Given the description of an element on the screen output the (x, y) to click on. 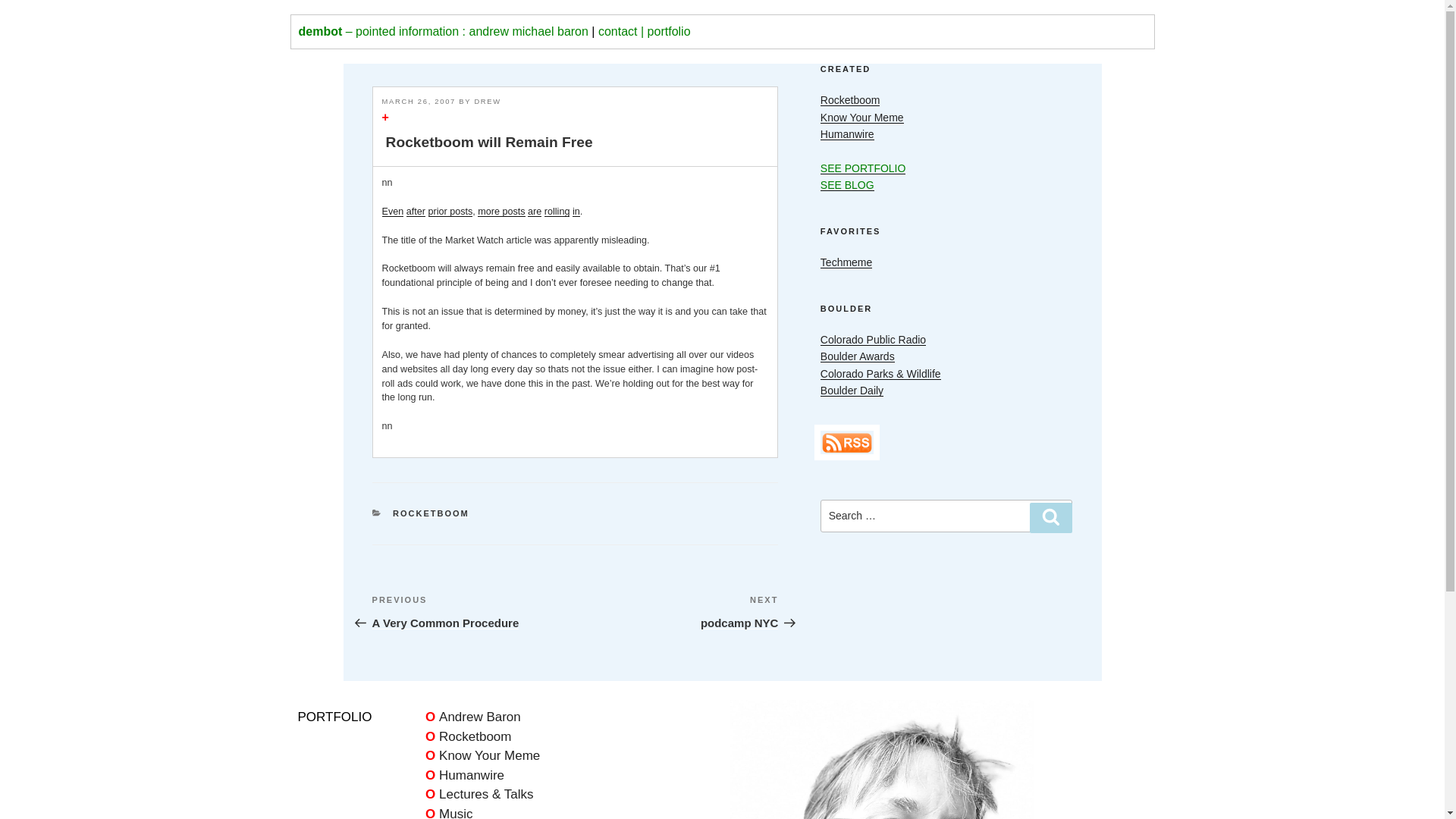
are (534, 211)
portfolio (668, 31)
Even (392, 211)
O Humanwire (464, 775)
Rocketboom (850, 100)
Boulder Awards (858, 356)
O Know Your Meme (473, 611)
O Rocketboom (482, 755)
SEE BLOG (468, 736)
